Given the description of an element on the screen output the (x, y) to click on. 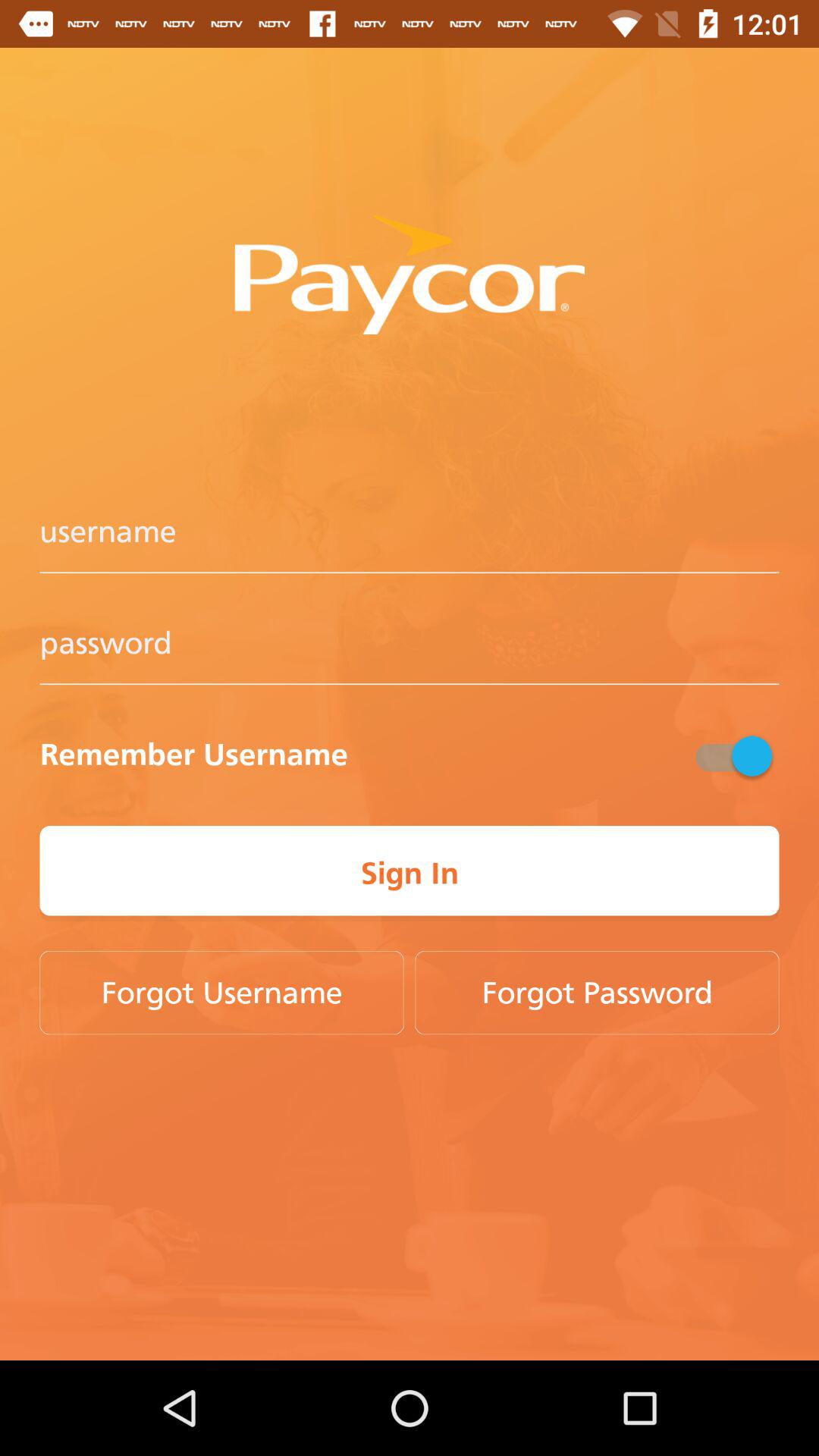
launch sign in button (409, 873)
